Given the description of an element on the screen output the (x, y) to click on. 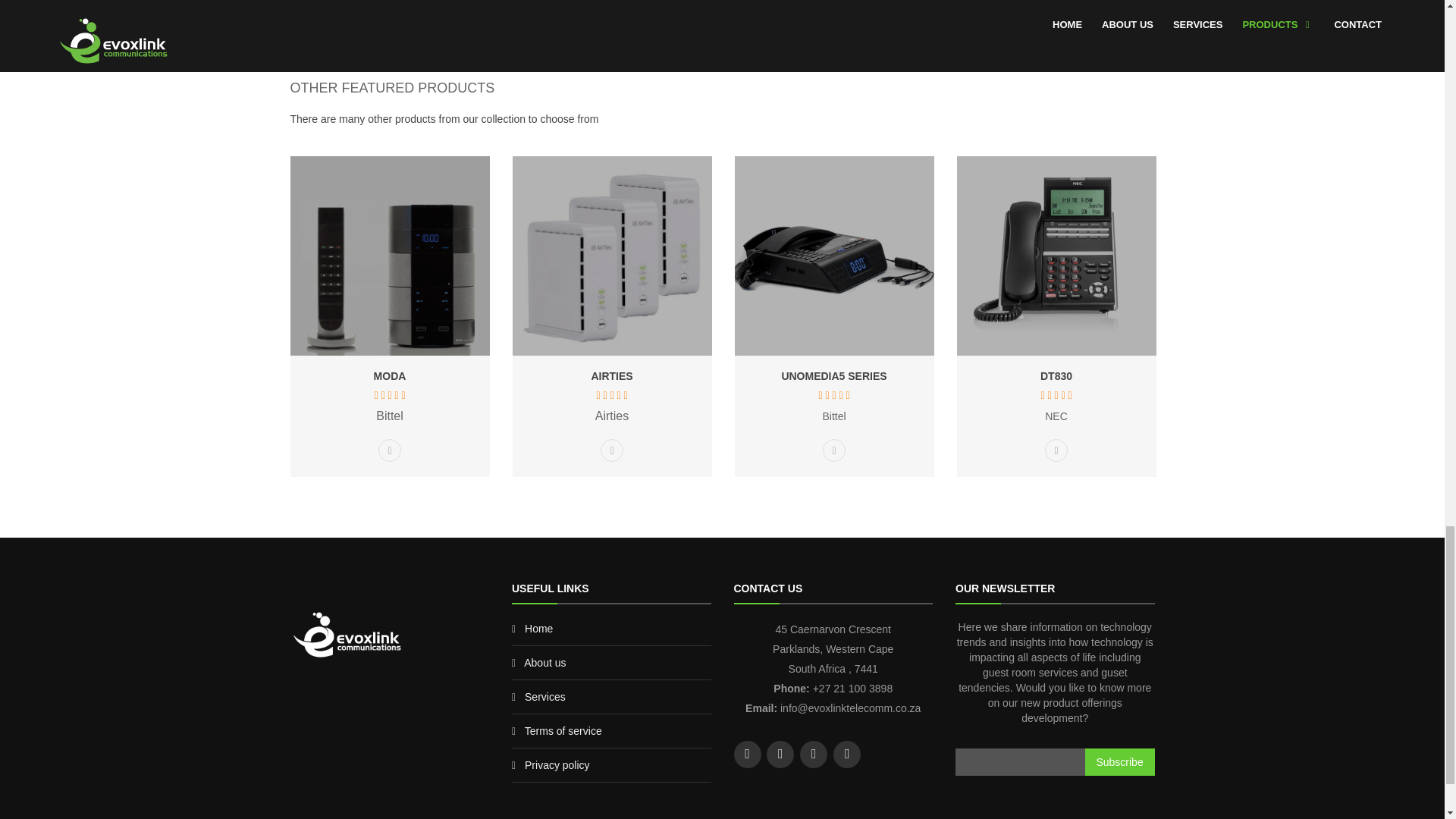
Subscribe (1119, 761)
Evoxlink Communications (346, 634)
